Given the description of an element on the screen output the (x, y) to click on. 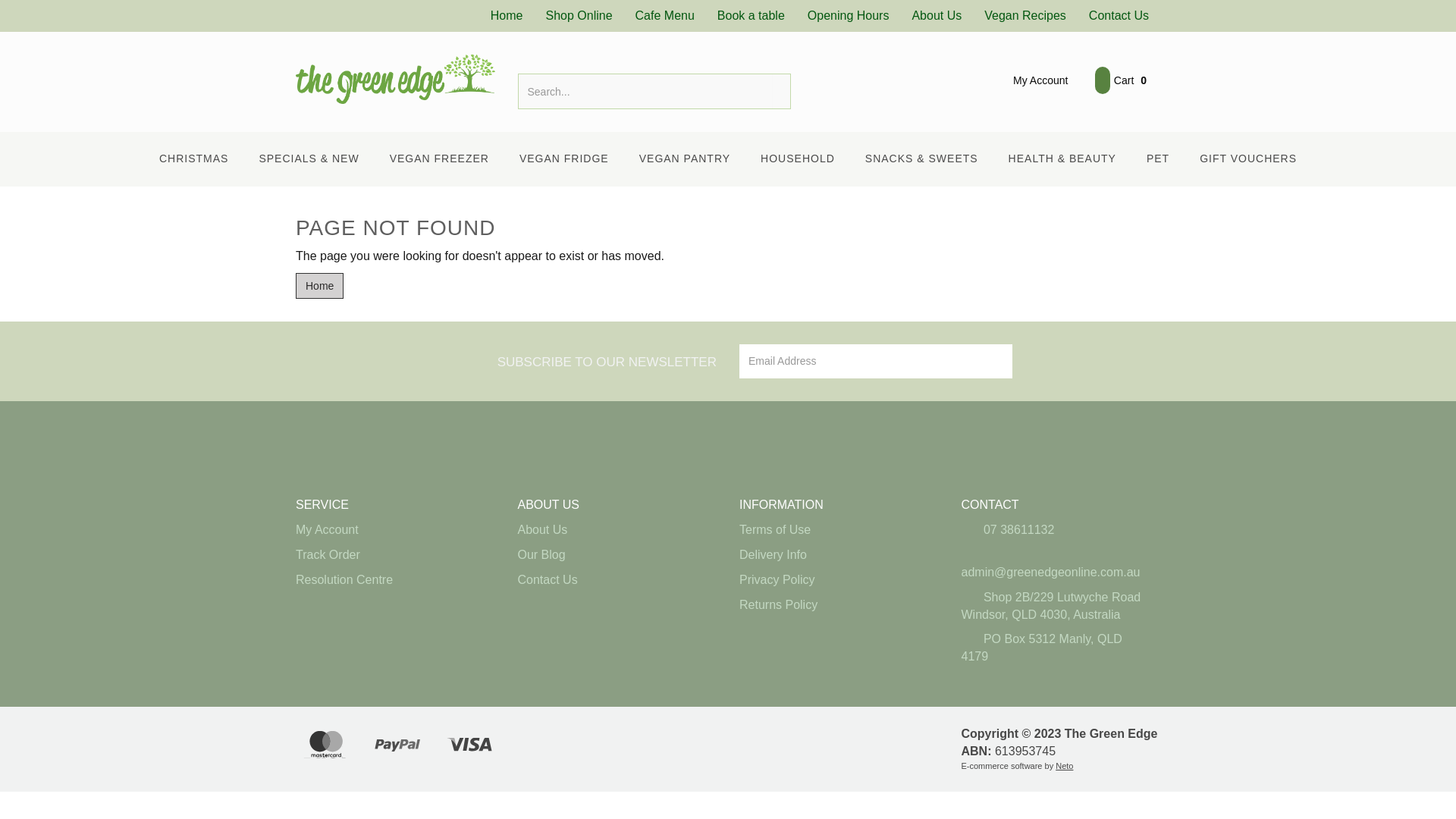
Book a table Element type: text (751, 15)
GIFT VOUCHERS Element type: text (1247, 158)
Home Element type: text (319, 285)
VEGAN FREEZER Element type: text (439, 158)
SNACKS & SWEETS Element type: text (921, 158)
My Account Element type: text (1028, 80)
HEALTH & BEAUTY Element type: text (1062, 158)
Track Order Element type: text (389, 555)
Delivery Info Element type: text (833, 555)
Search Element type: text (780, 91)
Subscribe Element type: text (995, 361)
Opening Hours Element type: text (848, 15)
HOUSEHOLD Element type: text (797, 158)
My Account Element type: text (389, 530)
SPECIALS & NEW Element type: text (308, 158)
Contact Us Element type: text (1118, 15)
Contact Us Element type: text (611, 580)
VEGAN PANTRY Element type: text (684, 158)
Our Blog Element type: text (611, 555)
CHRISTMAS Element type: text (193, 158)
Returns Policy Element type: text (833, 605)
Vegan Recipes Element type: text (1024, 15)
PET Element type: text (1157, 158)
VEGAN FRIDGE Element type: text (564, 158)
admin@greenedgeonline.com.au Element type: text (1054, 563)
Resolution Centre Element type: text (389, 580)
Privacy Policy Element type: text (833, 580)
Shop 2B/229 Lutwyche Road Windsor, QLD 4030, Australia Element type: text (1054, 606)
PO Box 5312 Manly, QLD 4179 Element type: text (1054, 647)
Neto Element type: text (1064, 765)
07 38611132 Element type: text (1054, 530)
Terms of Use Element type: text (833, 530)
Shop Online Element type: text (578, 15)
About Us Element type: text (611, 530)
Cafe Menu Element type: text (665, 15)
About Us Element type: text (936, 15)
Home Element type: text (506, 15)
The Green Edge Element type: hover (395, 78)
Cart 0 Element type: text (1120, 80)
